Given the description of an element on the screen output the (x, y) to click on. 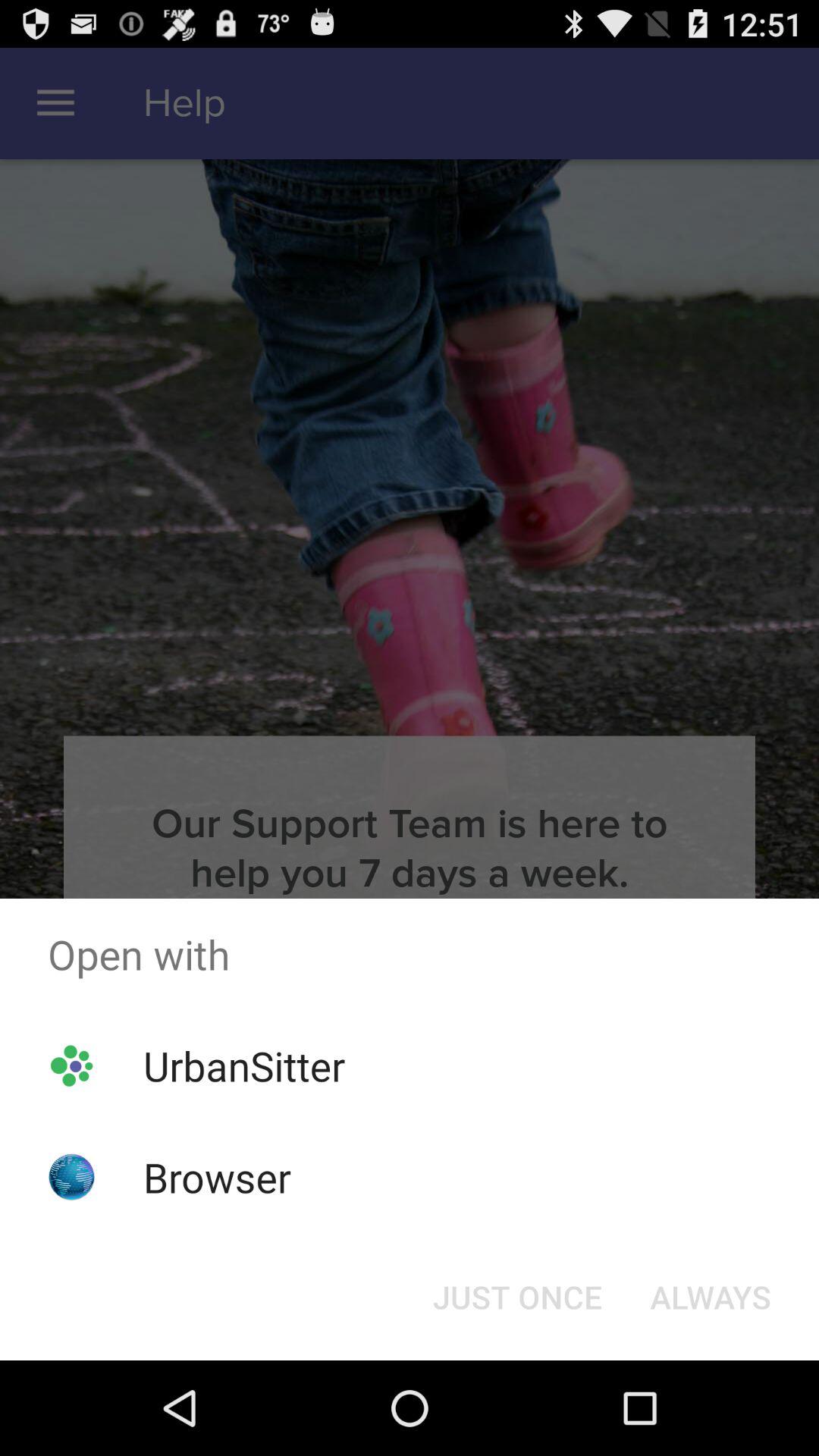
click item next to the always button (517, 1296)
